Given the description of an element on the screen output the (x, y) to click on. 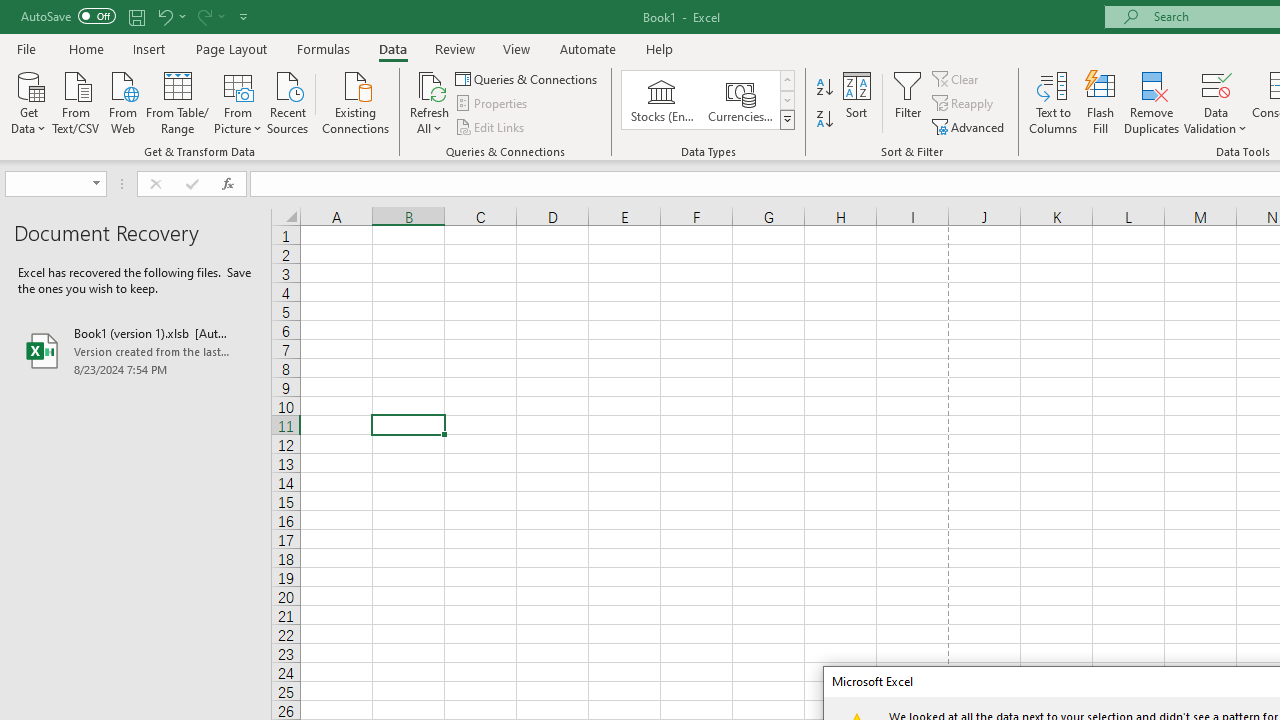
Remove Duplicates (1151, 102)
From Table/Range (177, 101)
Edit Links (491, 126)
Sort Z to A (824, 119)
Sort A to Z (824, 87)
